Given the description of an element on the screen output the (x, y) to click on. 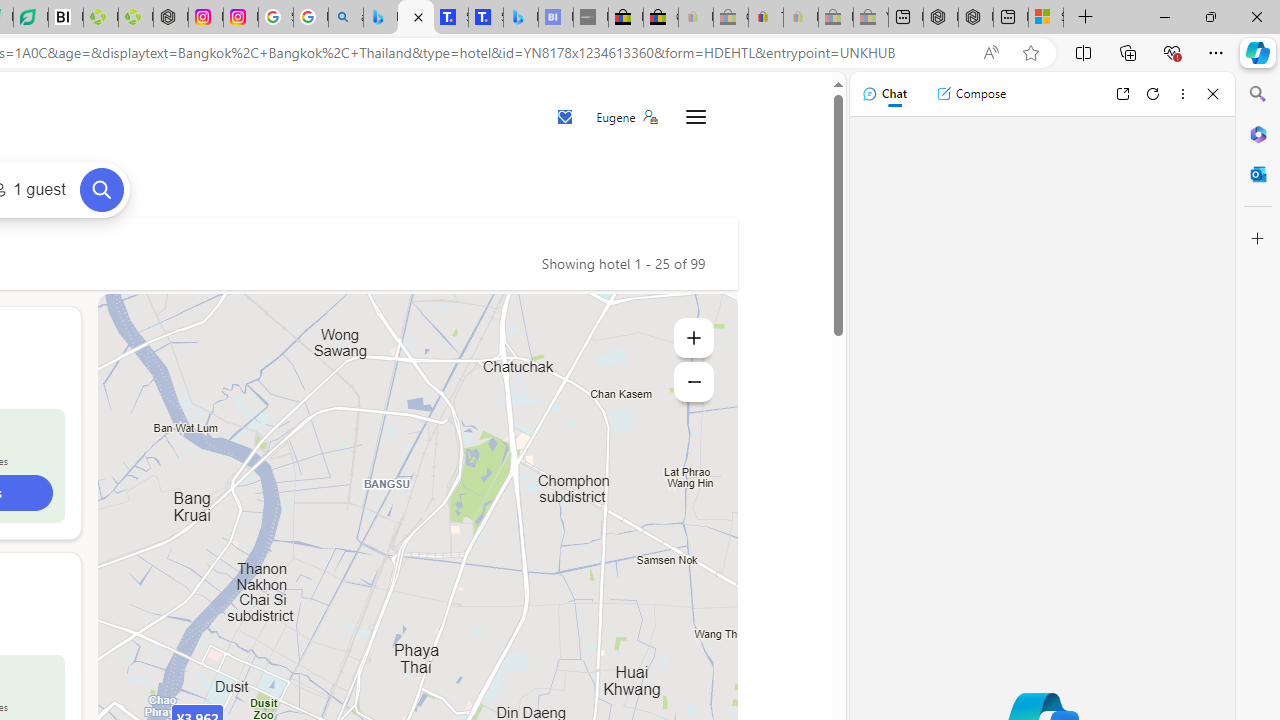
Nordace - Summer Adventures 2024 (975, 17)
Customize (1258, 239)
More options (1182, 93)
alabama high school quarterback dies - Search (346, 17)
Chat (884, 93)
